Given the description of an element on the screen output the (x, y) to click on. 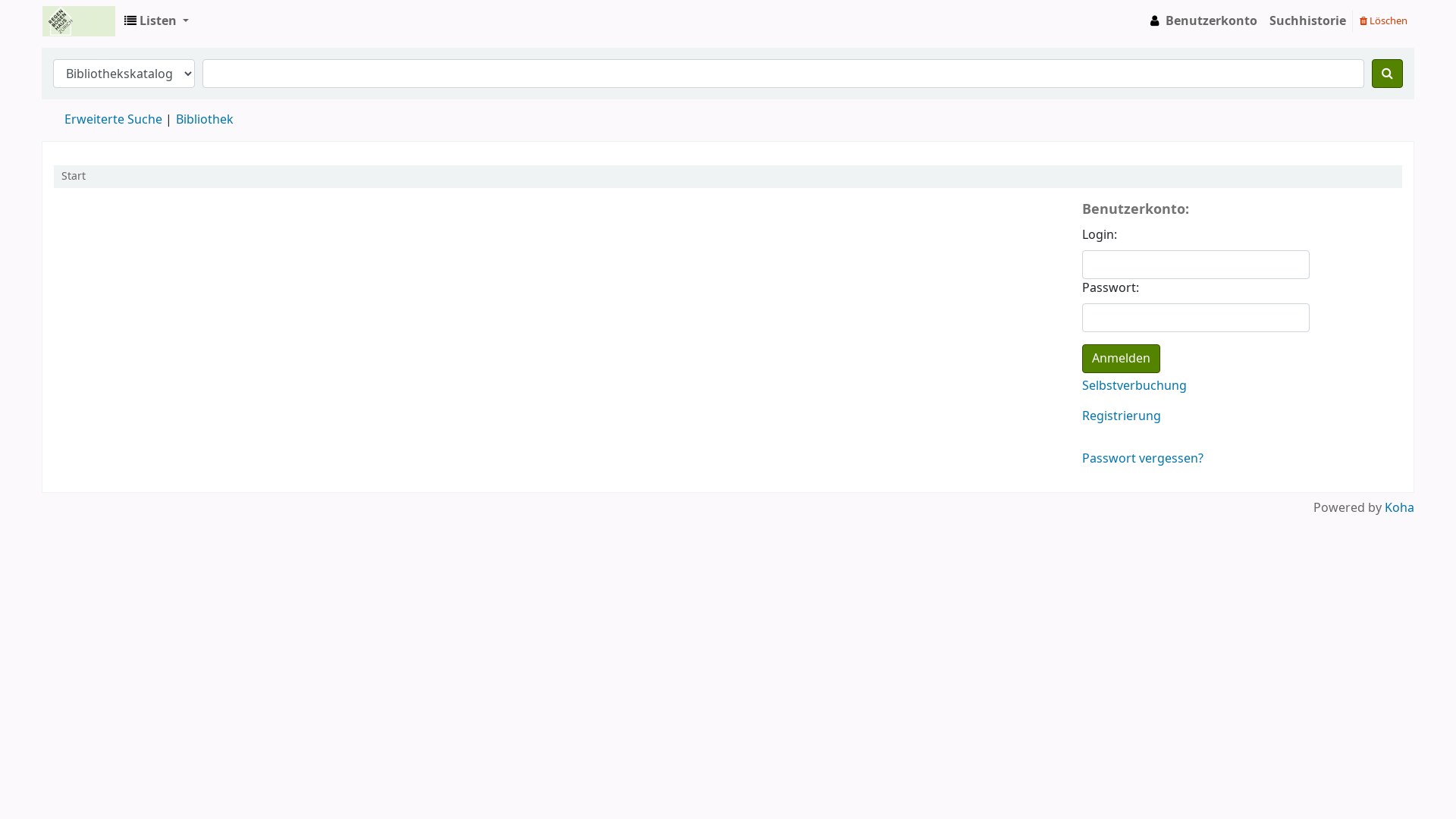
Koha Element type: text (1399, 507)
Selbstverbuchung Element type: text (1134, 385)
Suchhistorie Element type: text (1307, 21)
Listen Element type: text (156, 21)
Benutzerkonto Element type: text (1201, 21)
Registrierung Element type: text (1121, 416)
Anmelden Element type: text (1121, 358)
Bibliothek Element type: text (204, 119)
Passwort vergessen? Element type: text (1142, 458)
Bibliothek im Regenbogenhaus Element type: text (80, 21)
Start Element type: text (73, 176)
Suche Element type: hover (1386, 73)
Erweiterte Suche Element type: text (113, 119)
